Given the description of an element on the screen output the (x, y) to click on. 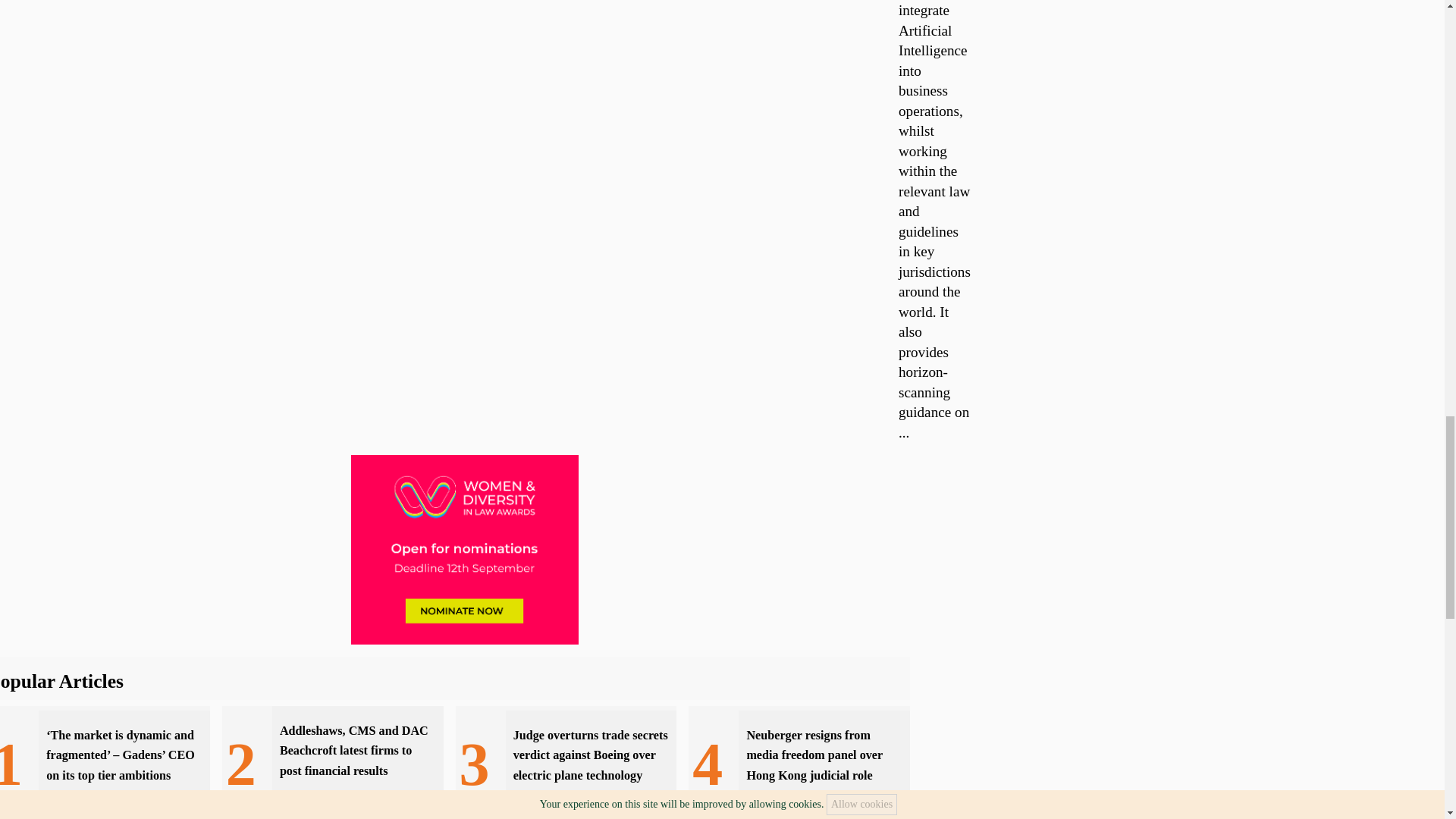
Law Firm Finances and Profitability (349, 798)
Interviews and Profiles (91, 813)
Australia (159, 813)
